Given the description of an element on the screen output the (x, y) to click on. 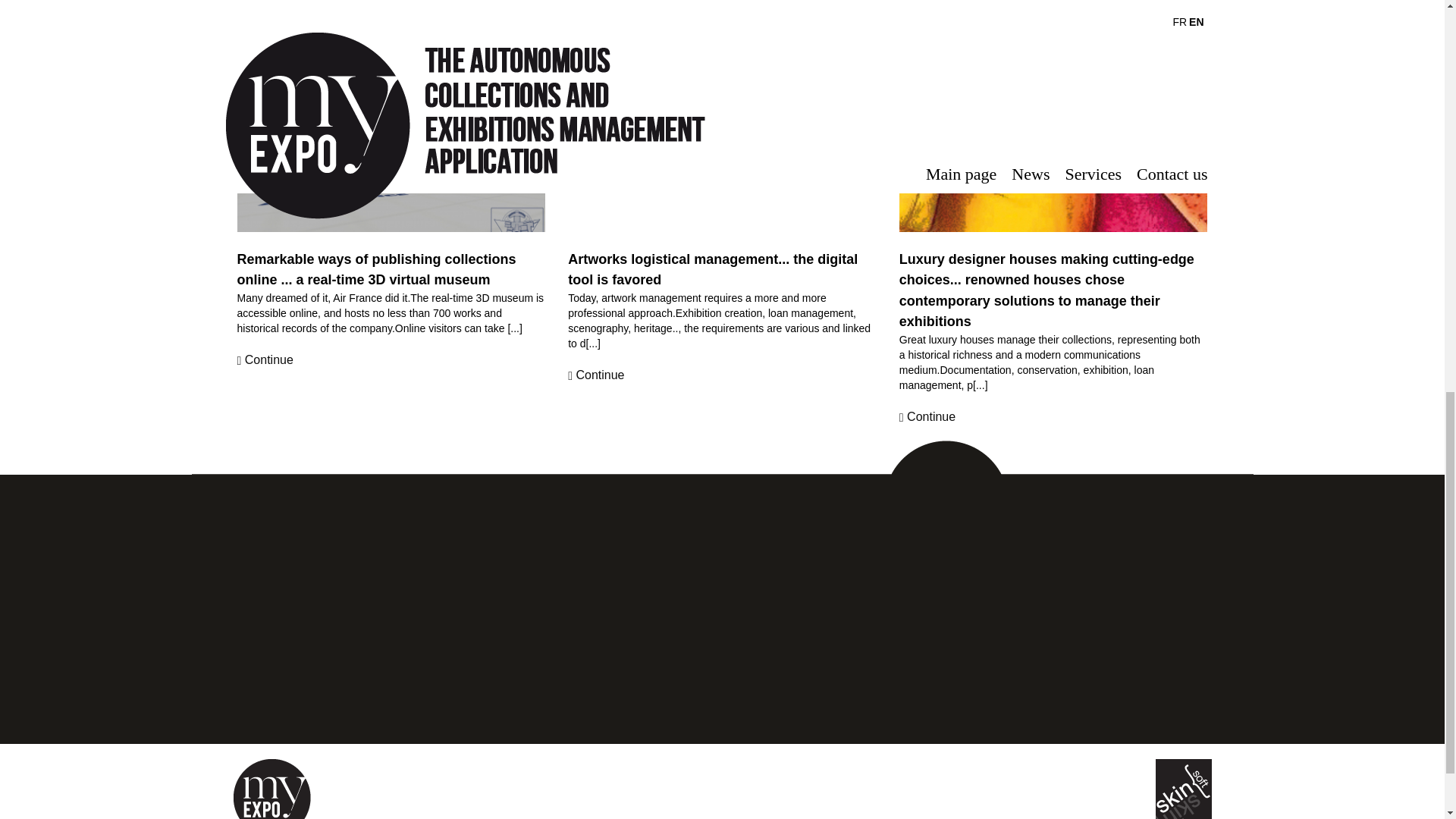
Continue (595, 375)
Continue (263, 360)
Continue (927, 416)
